Given the description of an element on the screen output the (x, y) to click on. 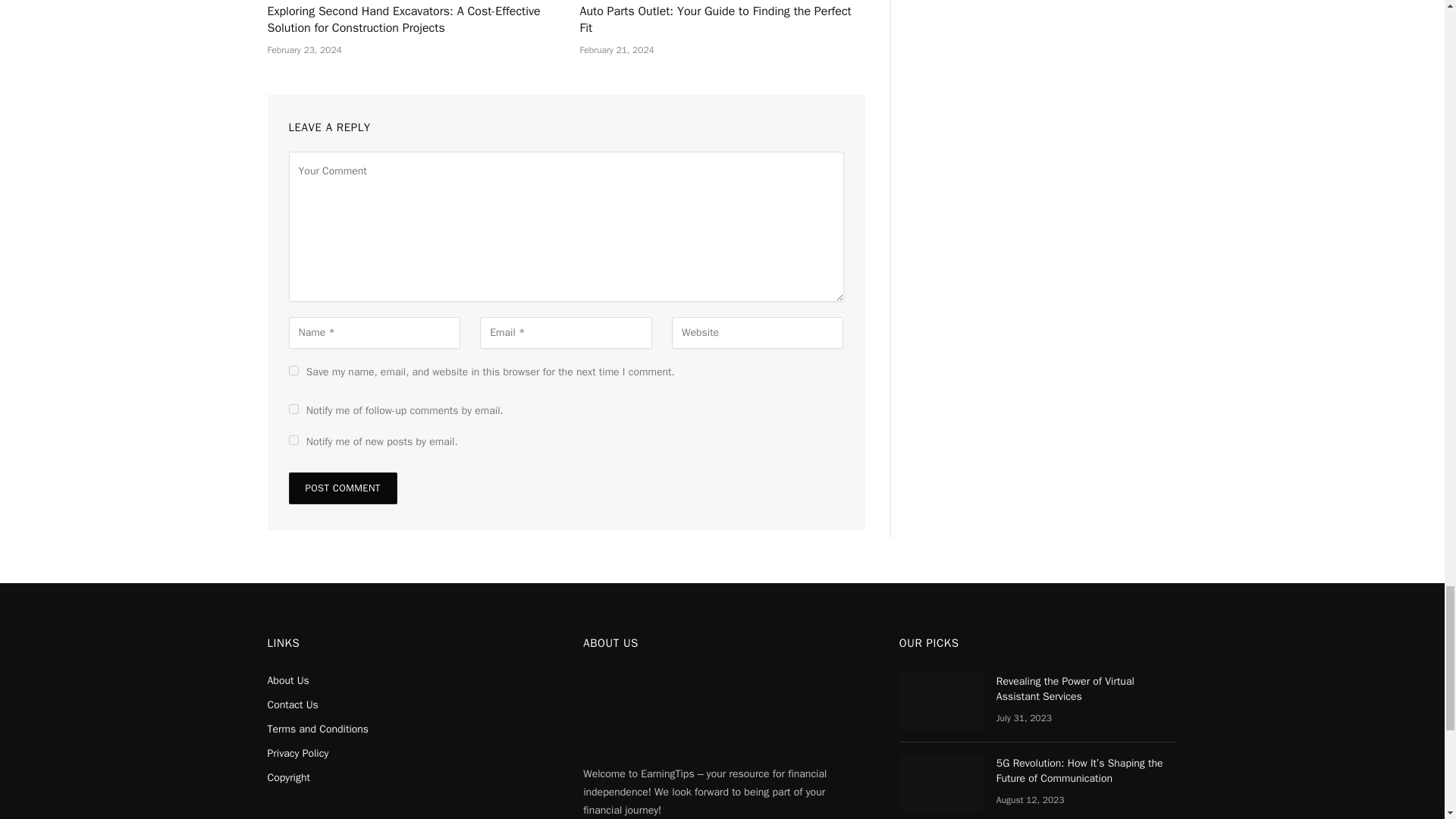
yes (293, 370)
subscribe (293, 439)
subscribe (293, 409)
Post Comment (342, 488)
